Given the description of an element on the screen output the (x, y) to click on. 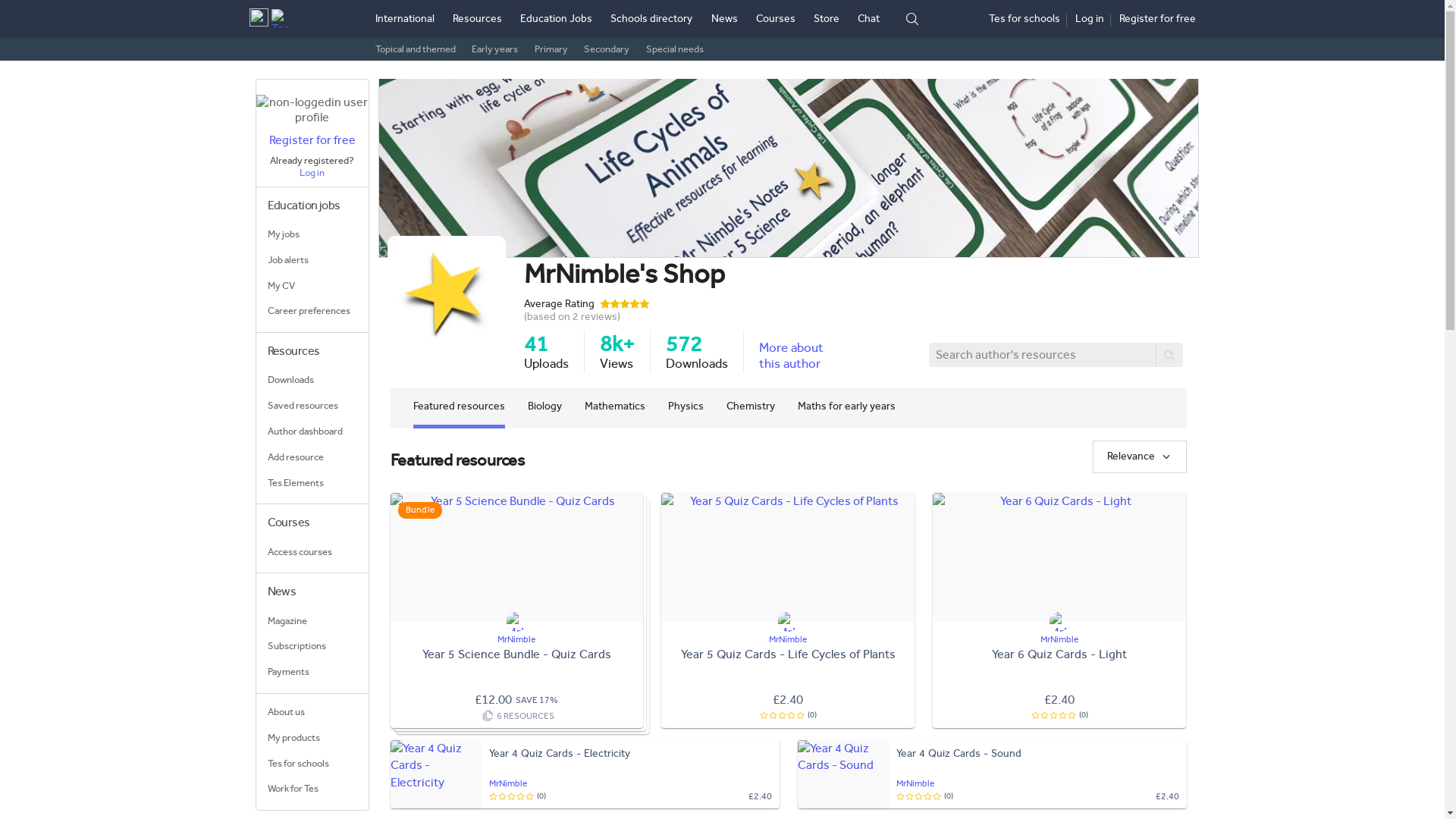
Secondary (605, 48)
International (403, 18)
Tes for schools (1023, 18)
Courses (774, 18)
Register for free (1157, 18)
Topical and themed (414, 48)
Special needs (674, 48)
Education Jobs (555, 18)
Schools directory (651, 18)
Log in (1089, 18)
